Given the description of an element on the screen output the (x, y) to click on. 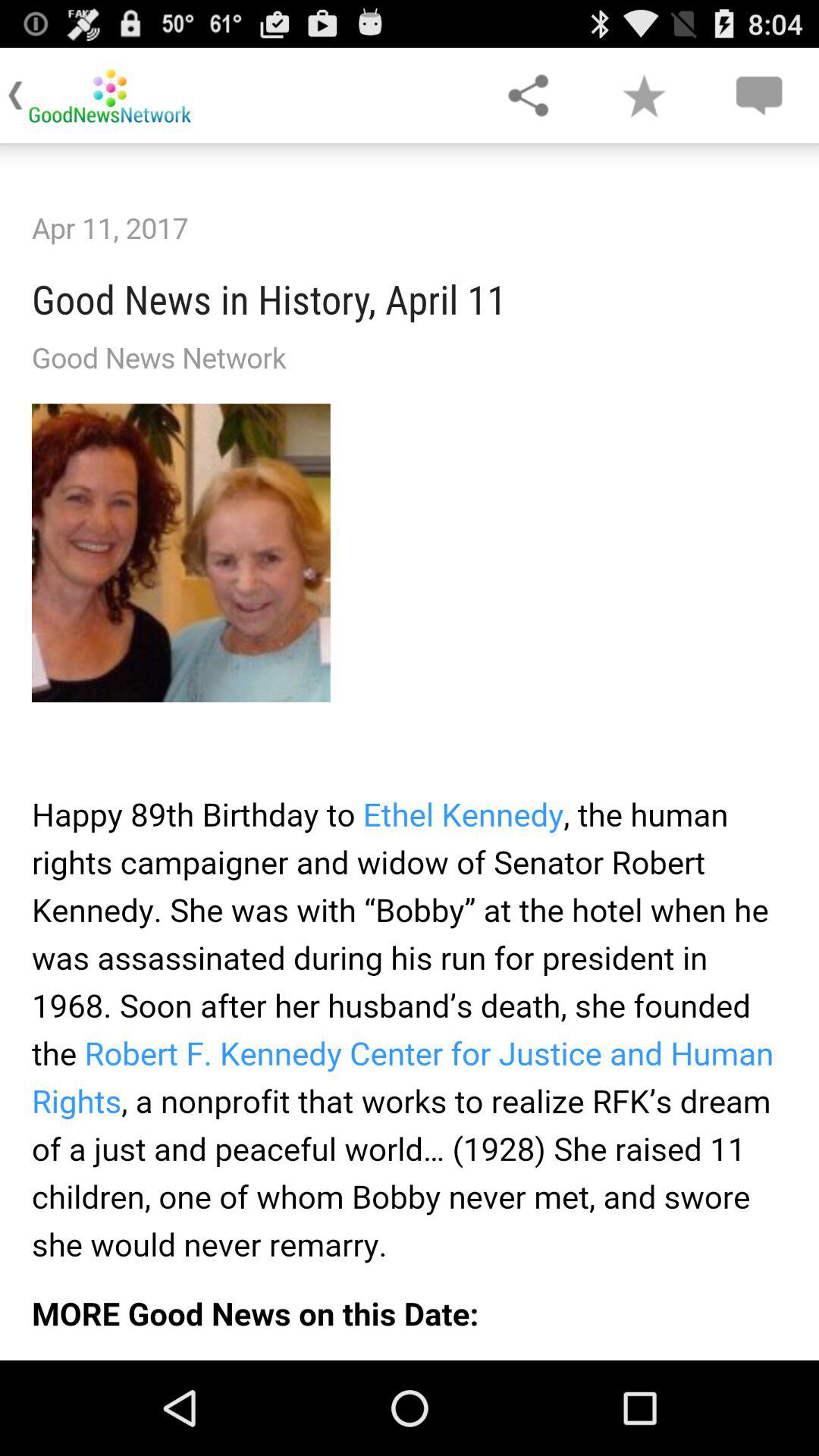
share the article (527, 95)
